Given the description of an element on the screen output the (x, y) to click on. 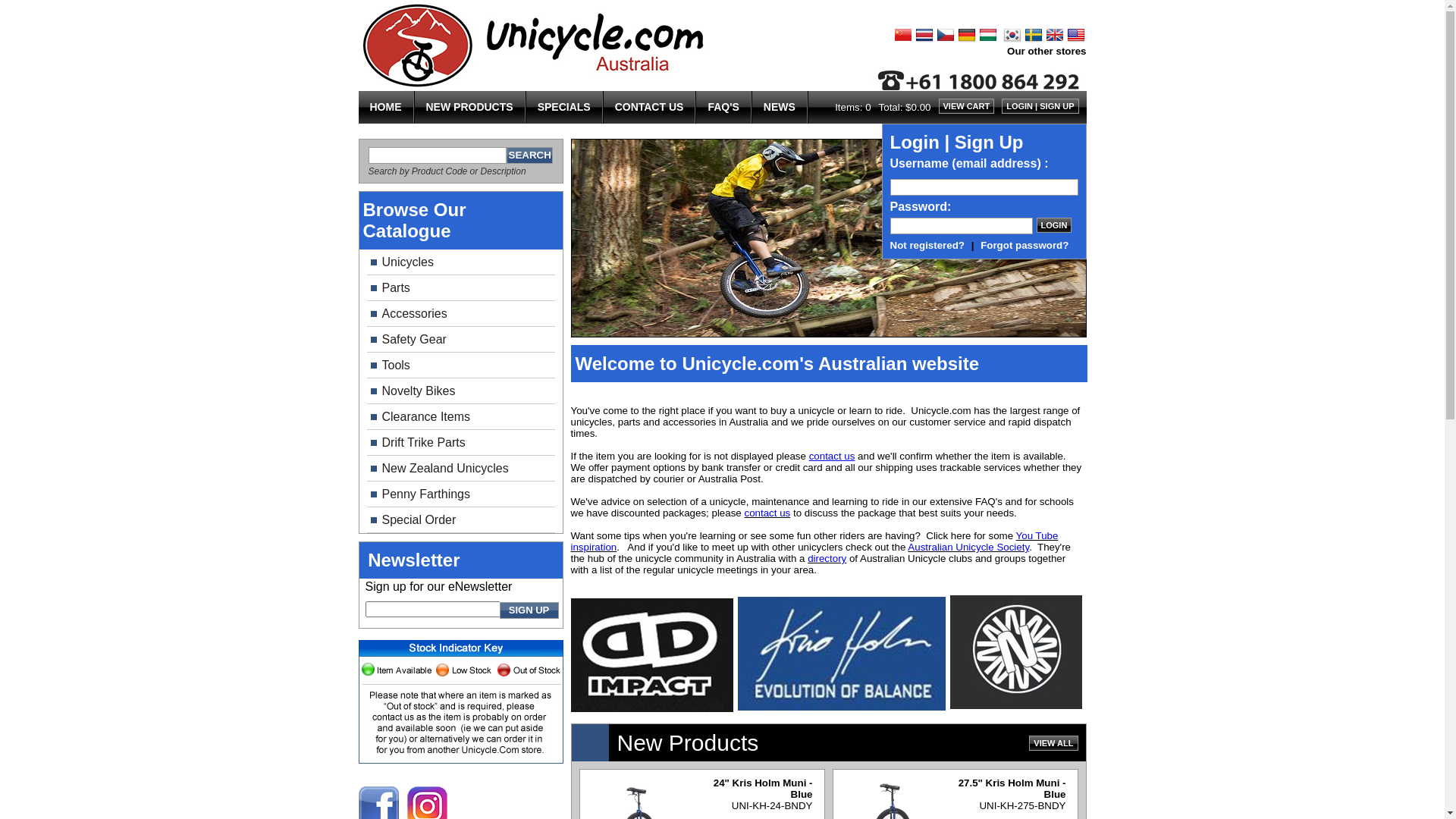
Not registered? Element type: text (927, 245)
27.5" Kris Holm Muni - Blue Element type: text (1012, 788)
LOGIN Element type: text (1053, 224)
NEWS Element type: text (779, 106)
Tools Element type: text (461, 365)
CONTACT US Element type: text (649, 106)
Safety Gear Element type: text (461, 339)
SIGN UP Element type: text (528, 610)
New Zealand Unicycles Element type: text (461, 468)
Parts Element type: text (461, 288)
Clearance Items Element type: text (461, 416)
contact us Element type: text (832, 455)
Forgot password? Element type: text (1024, 245)
NEW PRODUCTS Element type: text (469, 106)
Australian Unicycle Society Element type: text (968, 546)
Drift Trike Parts Element type: text (461, 442)
VIEW CART Element type: text (966, 105)
Special Order Element type: text (461, 520)
LOGIN | SIGN UP Element type: text (1039, 105)
Penny Farthings Element type: text (461, 494)
Accessories Element type: text (461, 313)
contact us Element type: text (766, 512)
FAQ'S Element type: text (722, 106)
You Tube inspiration Element type: text (813, 541)
Novelty Bikes Element type: text (461, 391)
24" Kris Holm Muni - Blue Element type: text (762, 788)
Unicycles Element type: text (461, 262)
directory Element type: text (826, 558)
VIEW ALL Element type: text (1053, 742)
SEARCH Element type: text (529, 155)
Sign Up Element type: text (988, 141)
SPECIALS Element type: text (564, 106)
HOME Element type: text (384, 106)
